Given the description of an element on the screen output the (x, y) to click on. 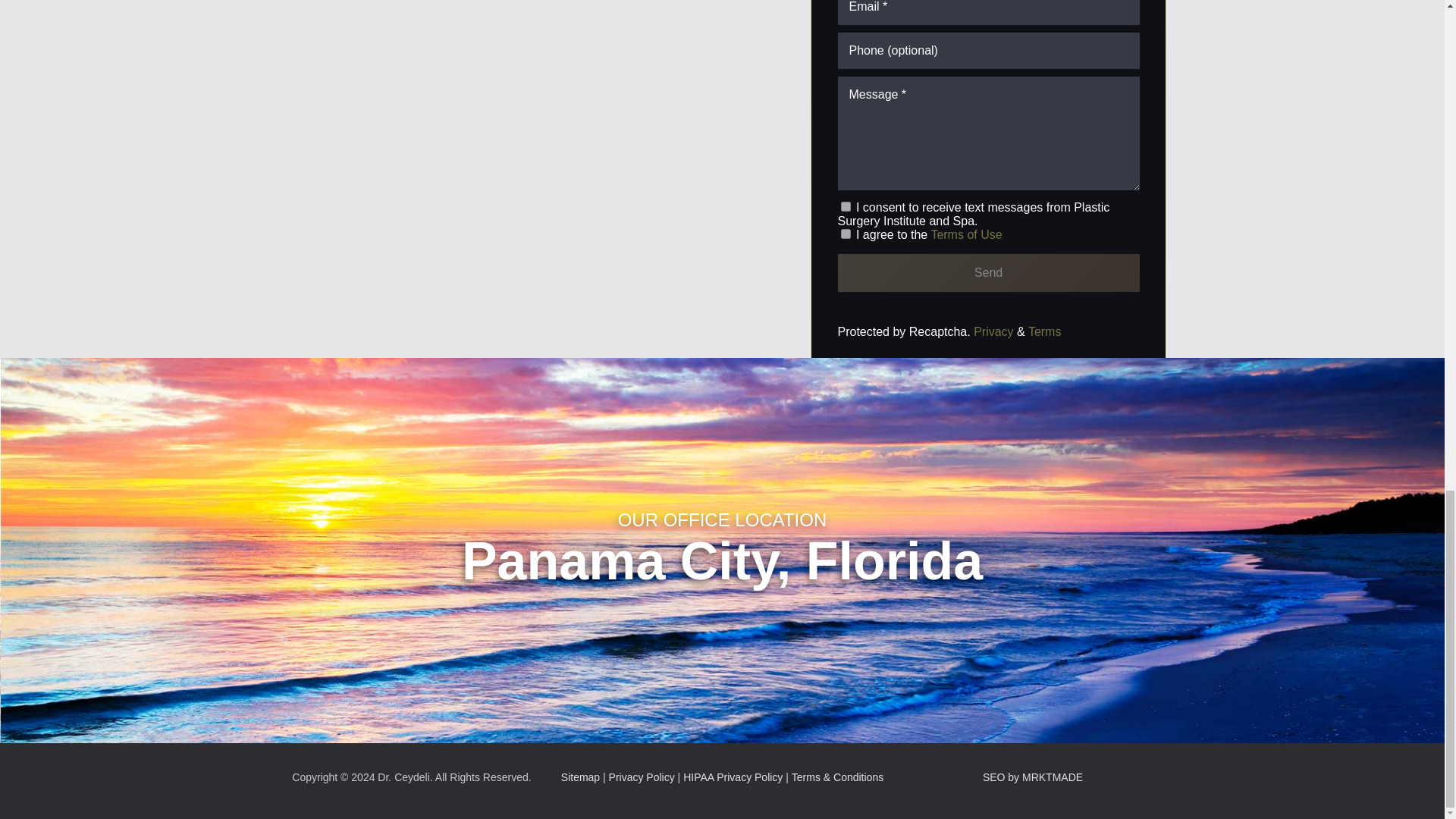
Send (987, 272)
1 (845, 234)
